Given the description of an element on the screen output the (x, y) to click on. 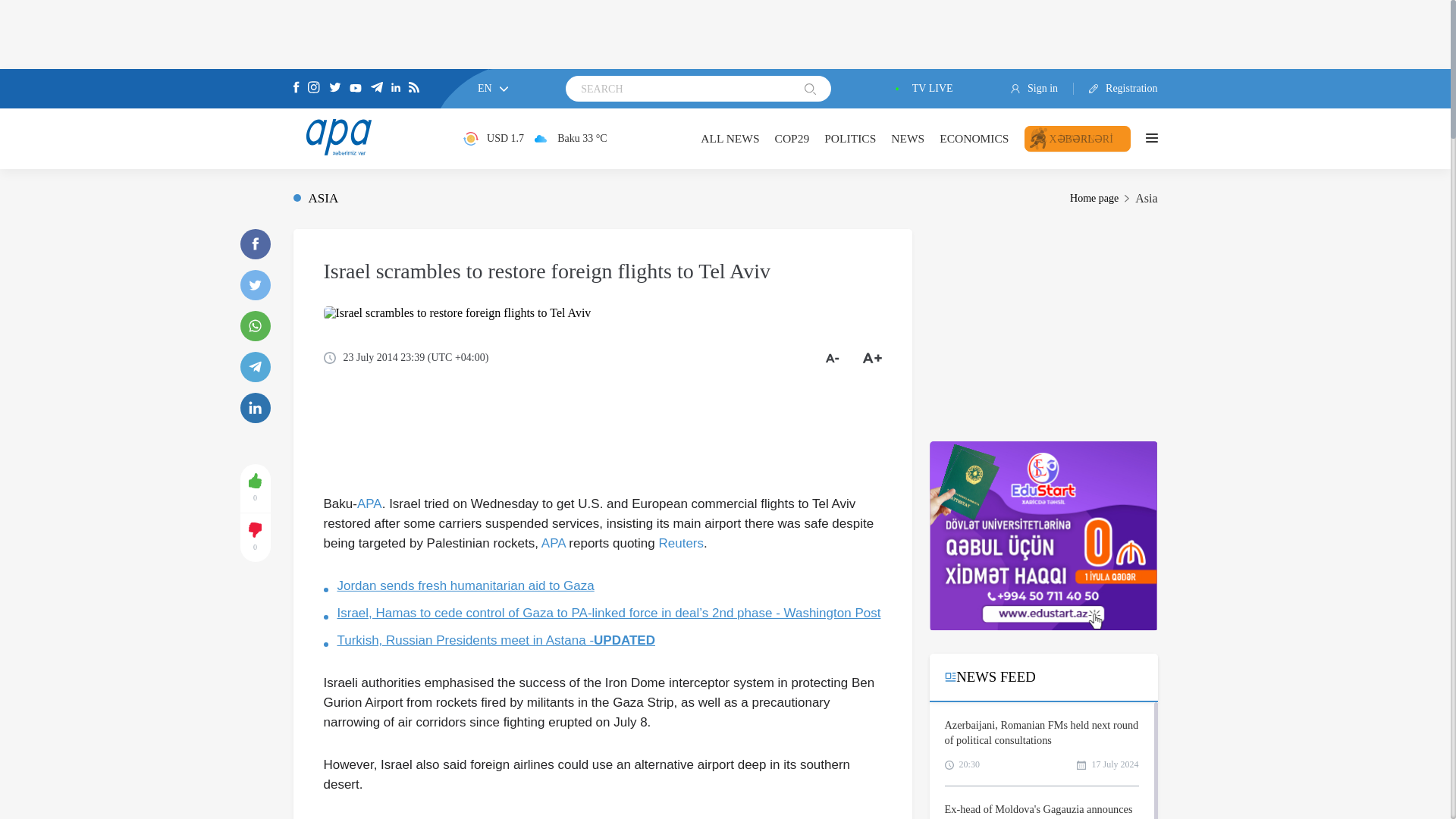
TV LIVE (921, 88)
ECONOMICS (974, 138)
ALL NEWS (729, 138)
POLITICS (850, 138)
NEWS (907, 138)
Sign in (1042, 88)
Registration (1115, 88)
COP29 (791, 138)
USD 1.7 (493, 138)
